Given the description of an element on the screen output the (x, y) to click on. 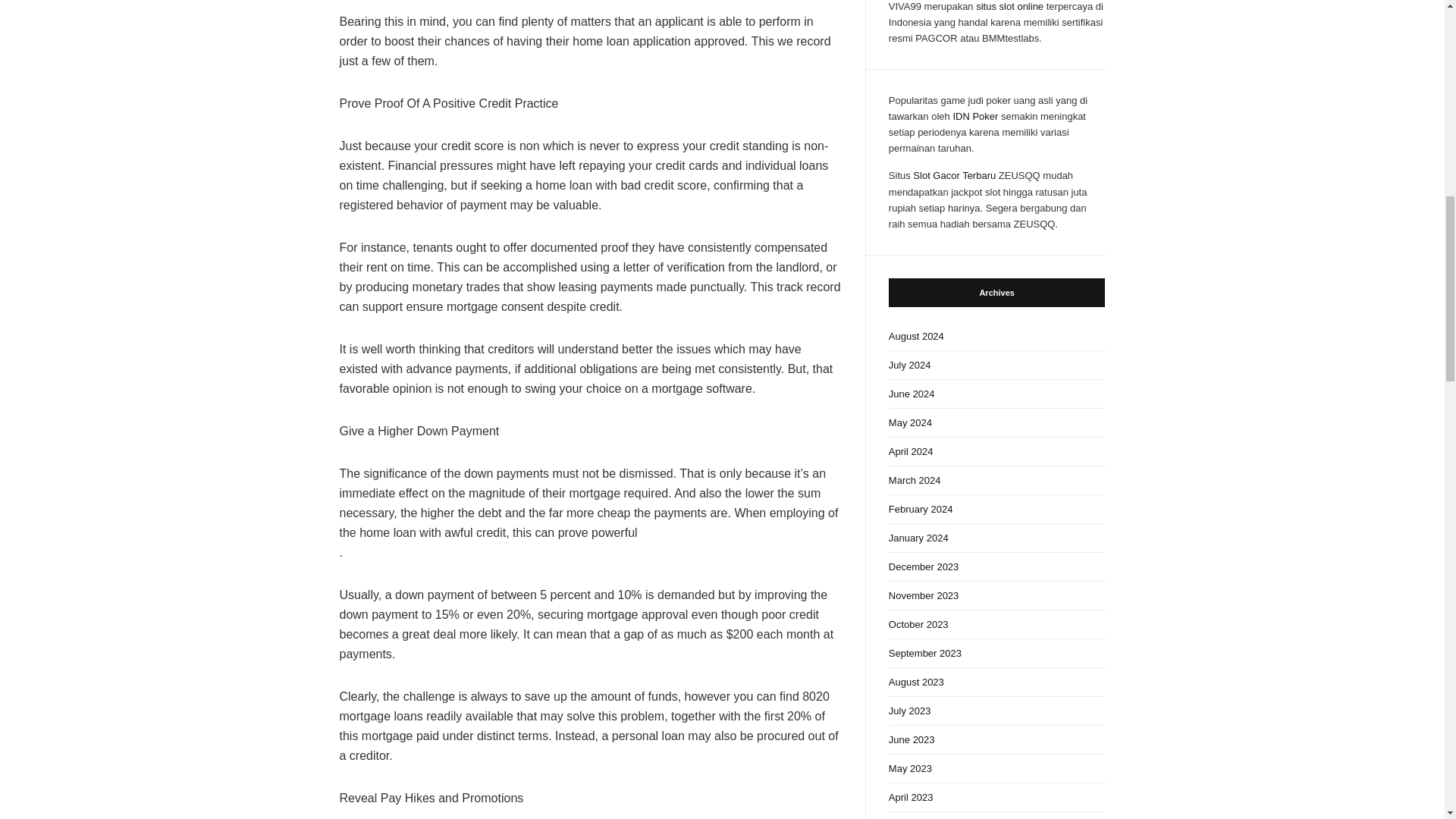
March 2024 (996, 480)
January 2024 (996, 538)
August 2024 (996, 336)
July 2024 (996, 365)
situs slot online (1009, 5)
IDN Poker (974, 116)
June 2024 (996, 394)
May 2024 (996, 422)
Slot Gacor Terbaru (953, 174)
April 2024 (996, 451)
